Given the description of an element on the screen output the (x, y) to click on. 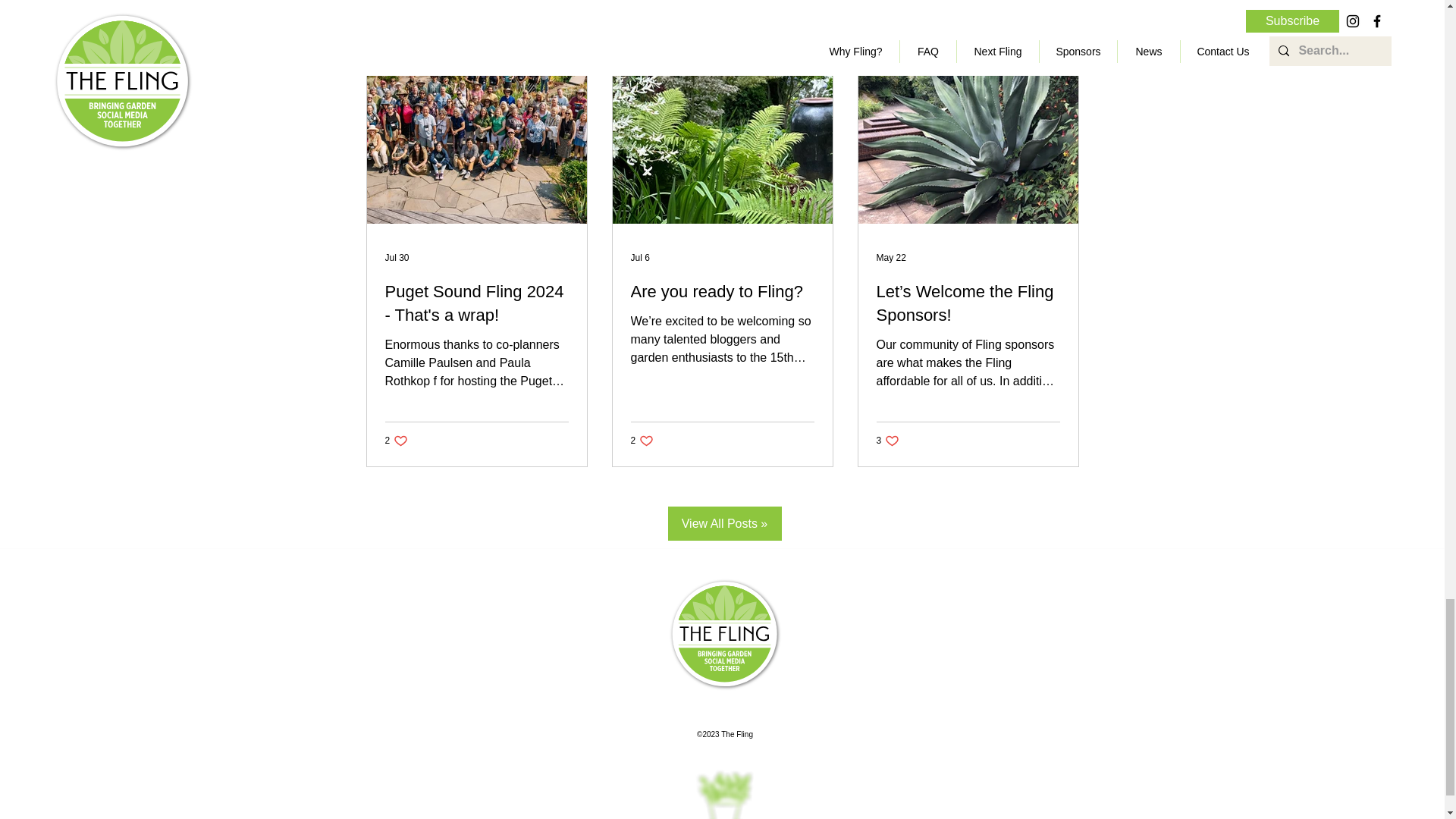
Jul 30 (397, 257)
May 22 (890, 257)
Jul 6 (639, 257)
